Given the description of an element on the screen output the (x, y) to click on. 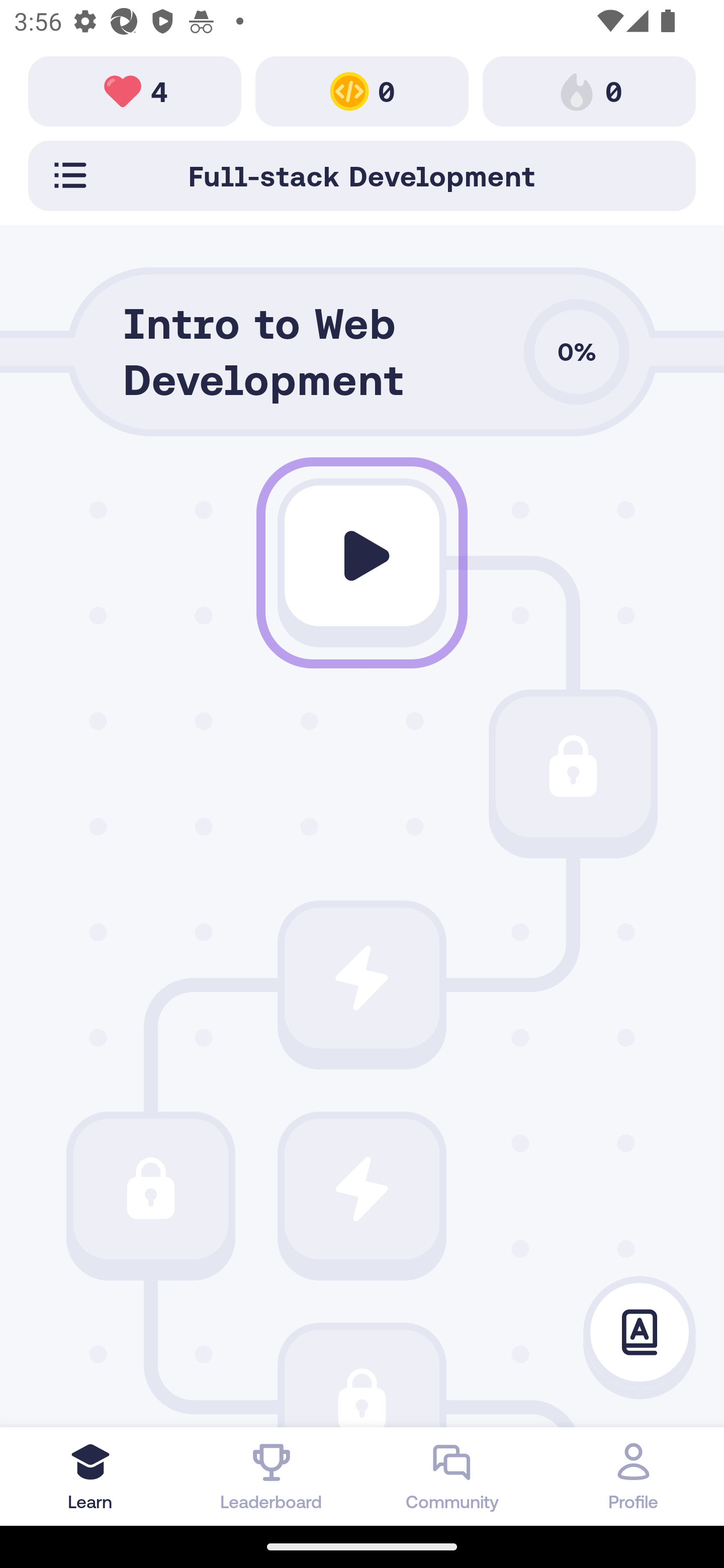
Path Toolbar Image 4 (134, 90)
Path Toolbar Image 0 (361, 90)
Path Toolbar Image 0 (588, 90)
Path Toolbar Selector Full-stack Development (361, 175)
Path Icon (361, 555)
Path Icon (572, 766)
Path Icon (361, 977)
Path Icon (150, 1188)
Path Icon (361, 1188)
Glossary Icon (639, 1332)
Path Icon (361, 1377)
Leaderboard (271, 1475)
Community (452, 1475)
Profile (633, 1475)
